Given the description of an element on the screen output the (x, y) to click on. 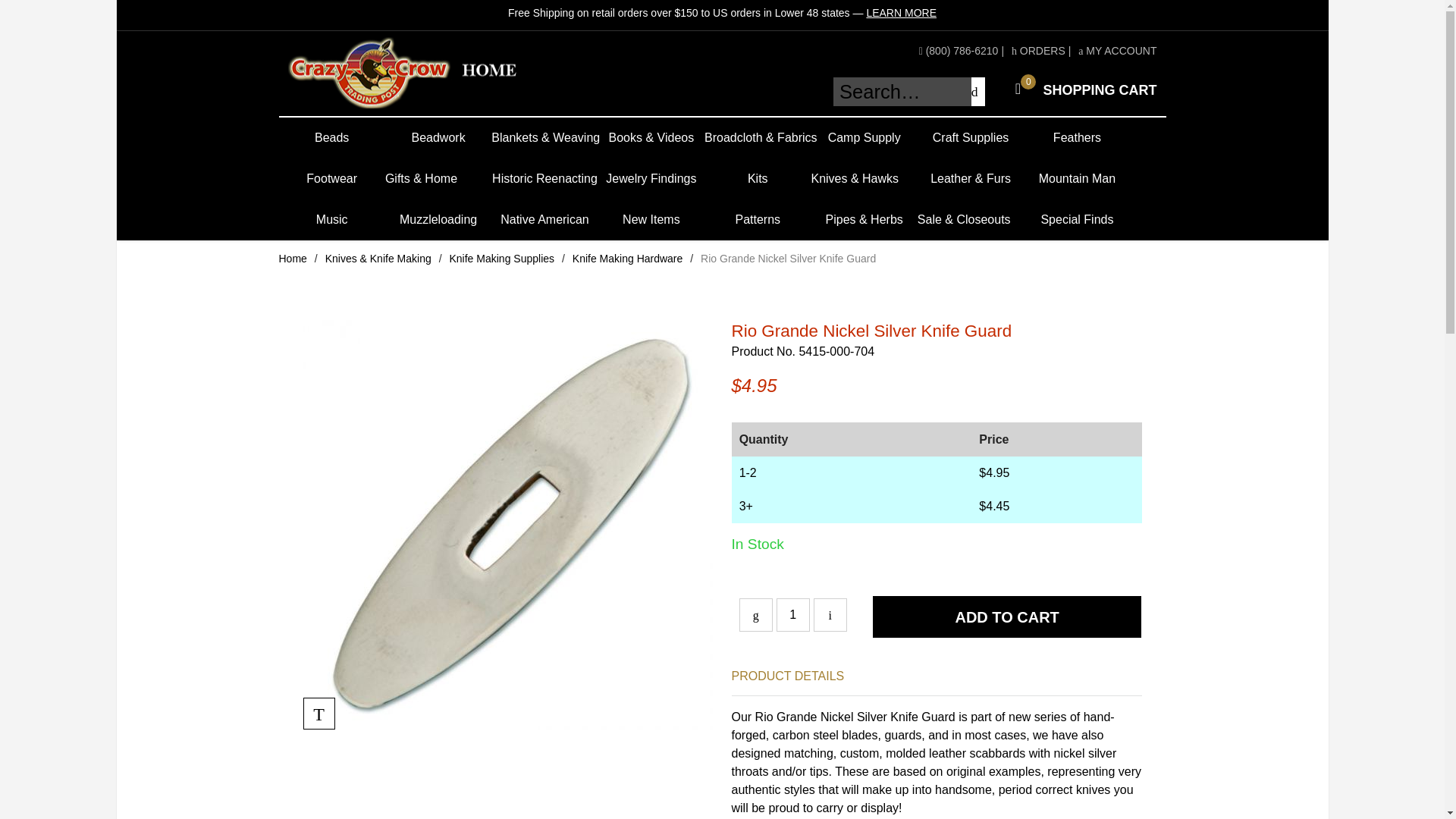
1 (792, 614)
Knife Making Supplies (501, 258)
MY ACCOUNT (1117, 50)
LEARN MORE (901, 12)
Beads (332, 137)
Knife Making Hardware (627, 258)
Add to Cart (1006, 617)
Crazy Crow Trading Post (427, 73)
Home (293, 258)
ORDERS (1038, 50)
Beadwork (1081, 89)
